Given the description of an element on the screen output the (x, y) to click on. 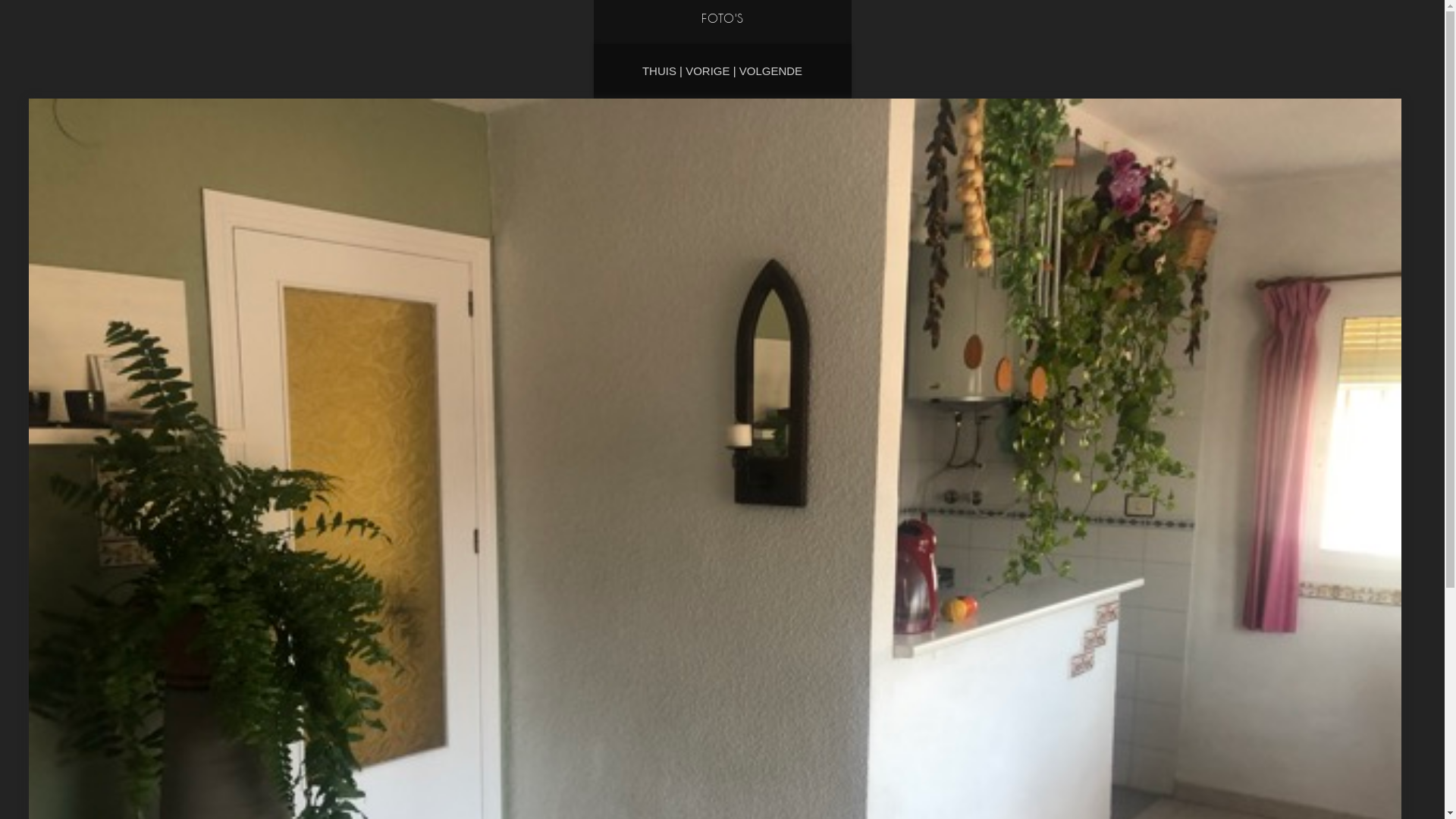
VORIGE Element type: text (707, 70)
THUIS Element type: text (659, 70)
VOLGENDE Element type: text (770, 70)
